Given the description of an element on the screen output the (x, y) to click on. 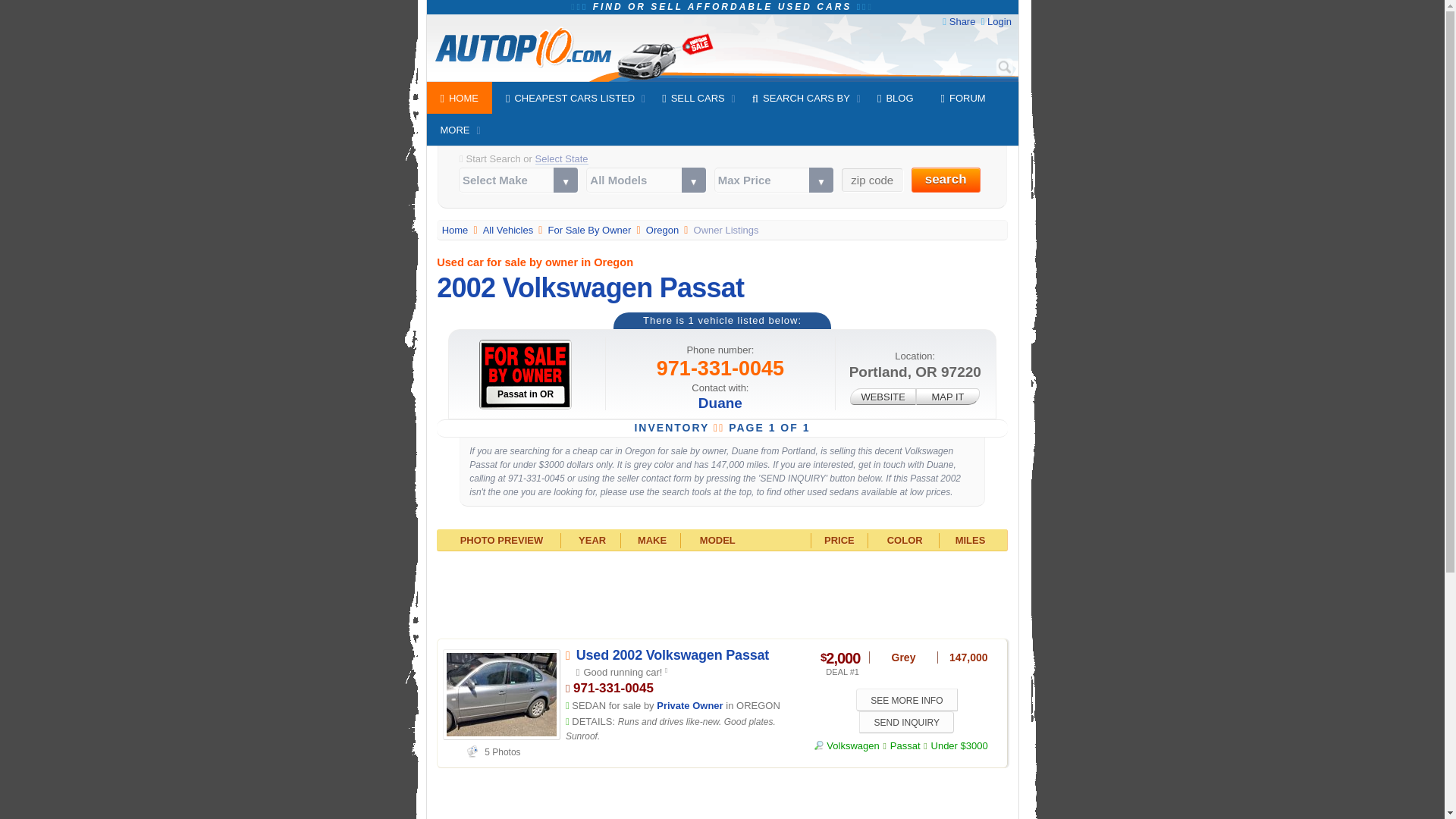
Home (456, 229)
search (945, 179)
BLOG (895, 97)
Browse all Volkswagen cars listed (846, 745)
See all cars listed by private owners (590, 229)
SELL CARS (692, 97)
All Vehicles (509, 229)
Advertisement (721, 797)
Login (999, 21)
Share (962, 21)
